Given the description of an element on the screen output the (x, y) to click on. 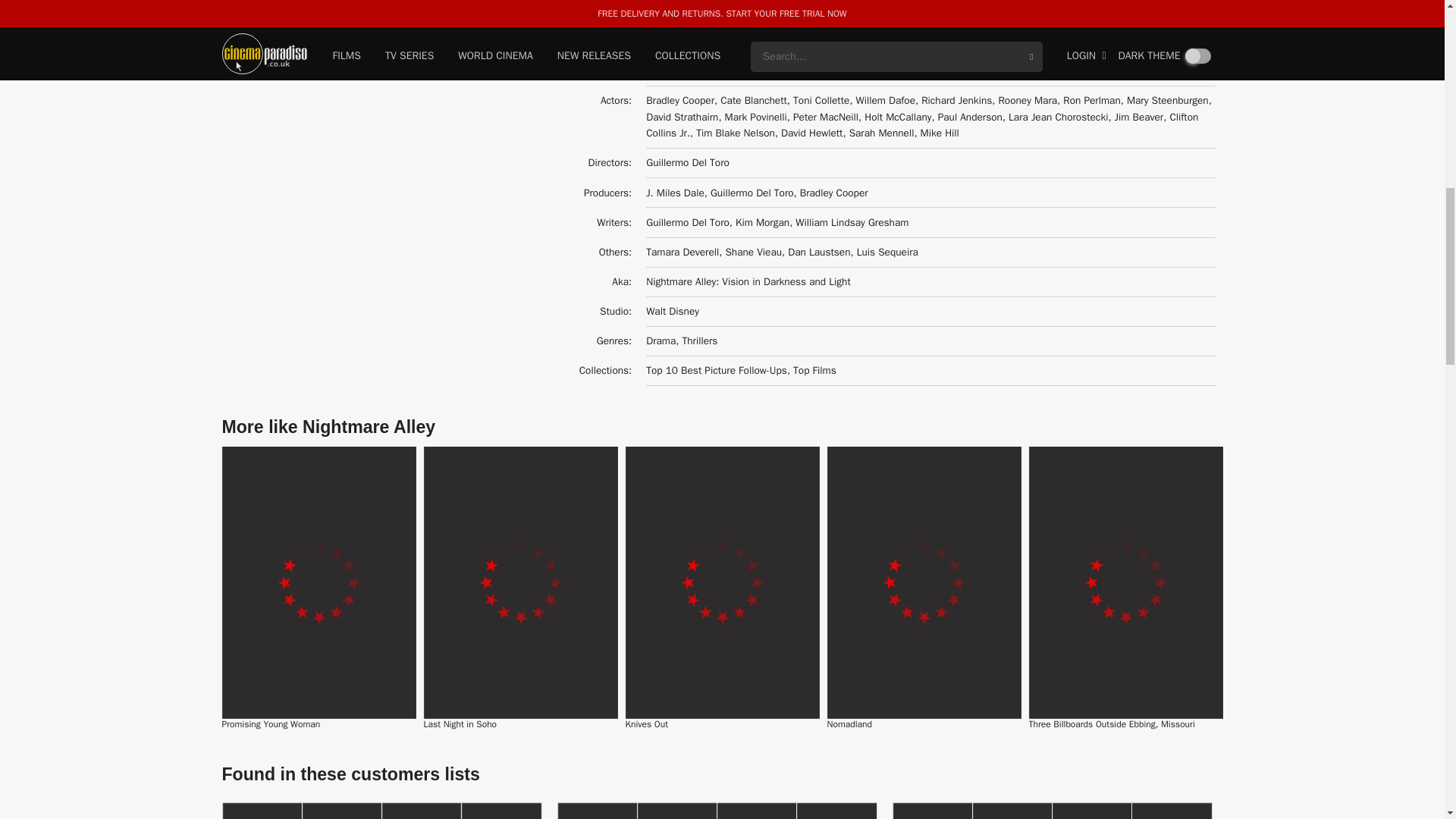
Promising Young Woman (270, 724)
Promising Young Woman Online DVD Rental (317, 582)
